Given the description of an element on the screen output the (x, y) to click on. 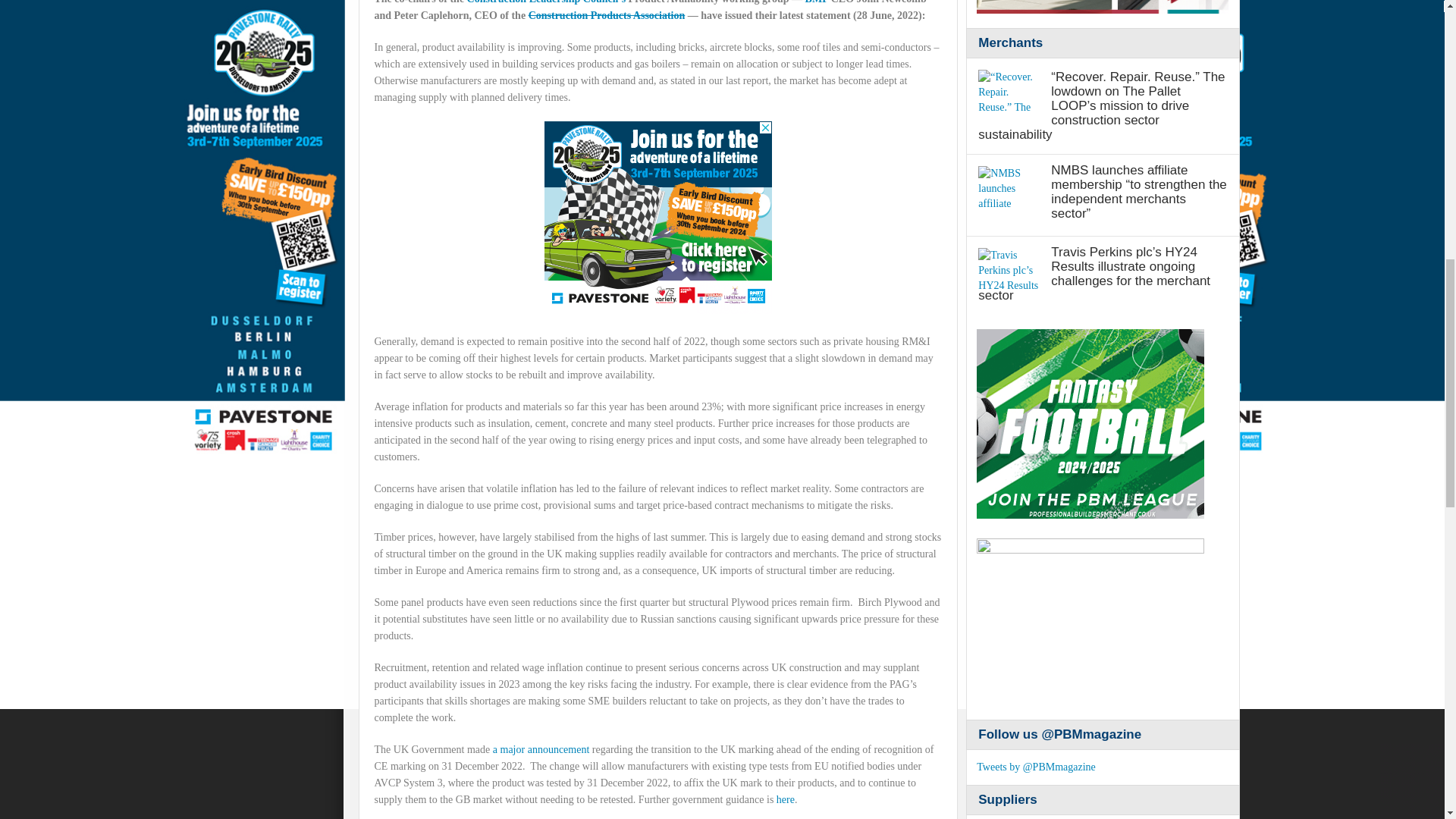
3rd party ad content (657, 217)
a major announcement (541, 749)
Construction Products Association (606, 15)
BMF (816, 2)
here (785, 799)
3rd party ad content (1102, 6)
